Given the description of an element on the screen output the (x, y) to click on. 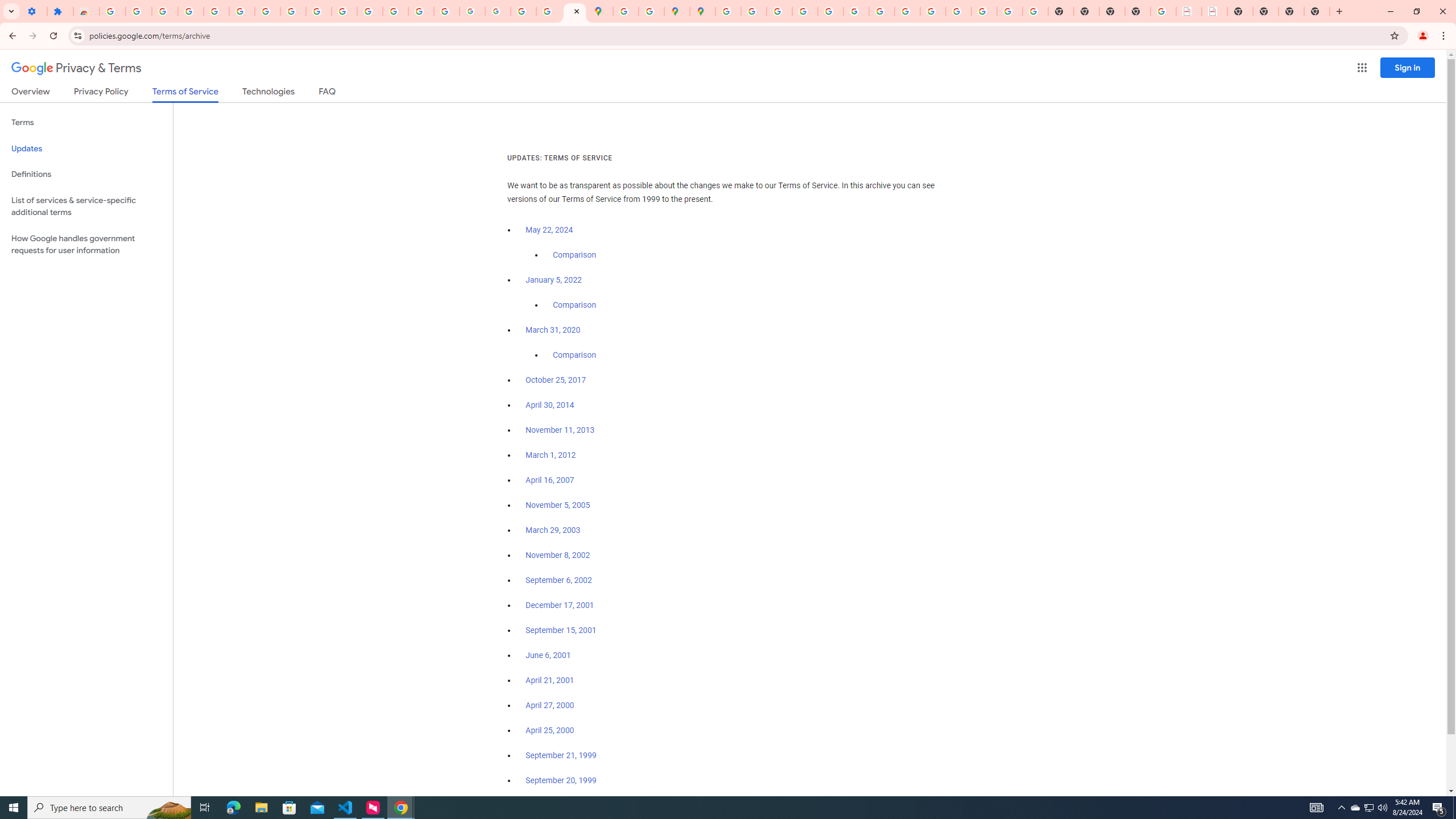
Comparison (574, 355)
Safety in Our Products - Google Safety Center (651, 11)
January 5, 2022 (553, 280)
Privacy Help Center - Policies Help (779, 11)
October 25, 2017 (555, 380)
Sign in - Google Accounts (242, 11)
New Tab (1137, 11)
